Given the description of an element on the screen output the (x, y) to click on. 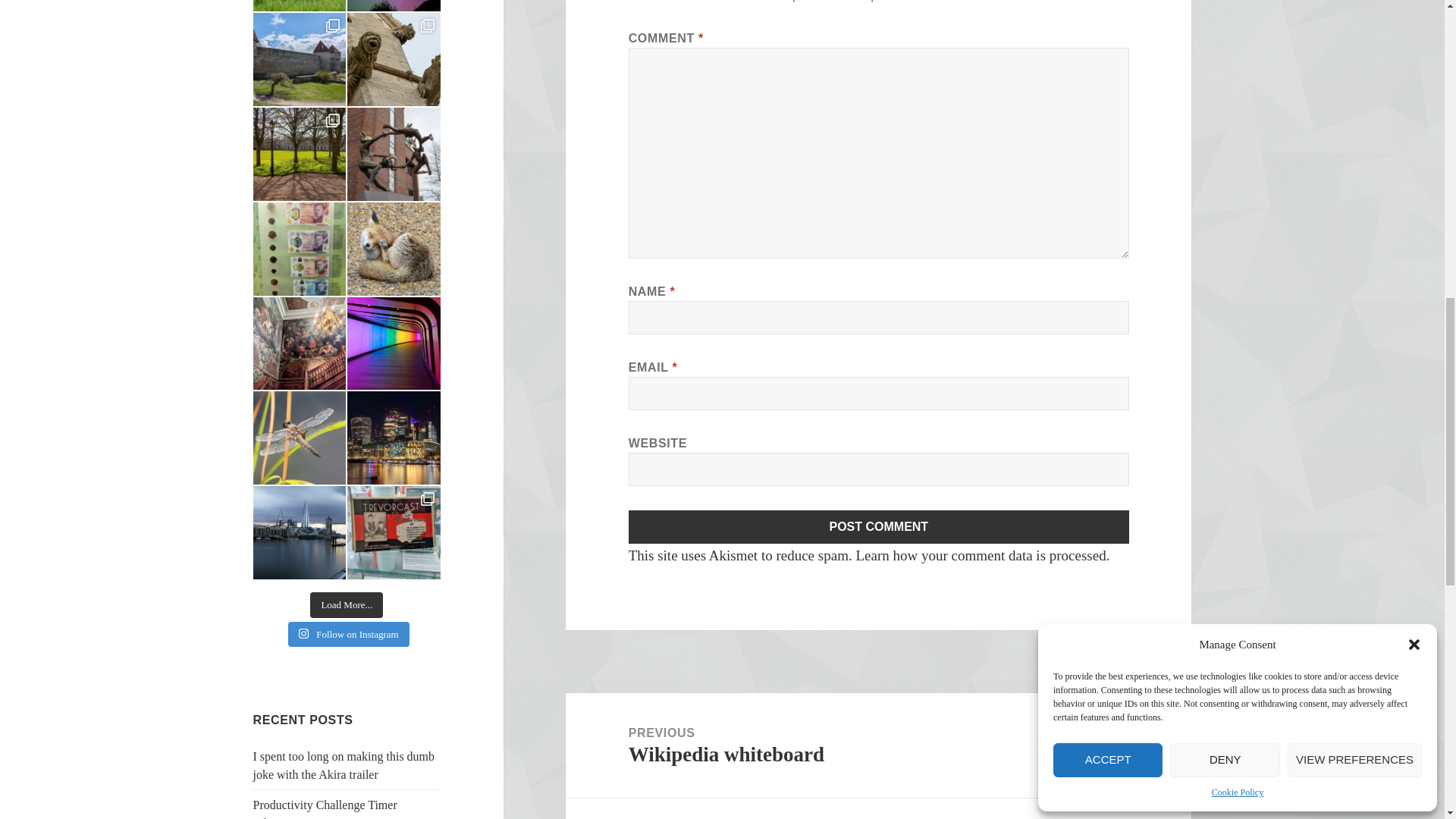
Post Comment (878, 526)
Load More... (346, 605)
Productivity Challenge Timer achievements (325, 808)
Follow on Instagram (348, 634)
